Given the description of an element on the screen output the (x, y) to click on. 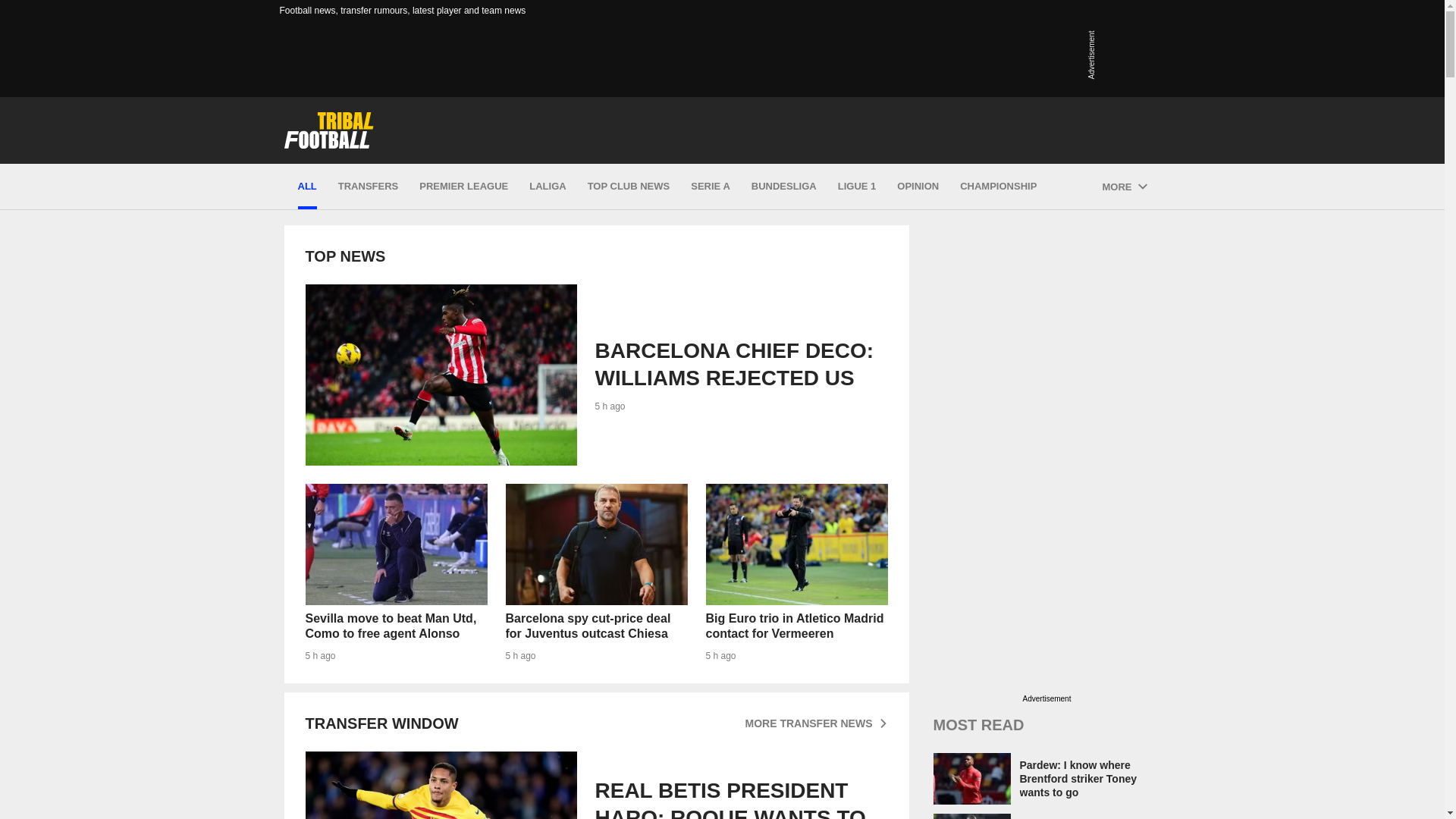
BUNDESLIGA (783, 186)
Big Euro trio in Atletico Madrid contact for Vermeeren (795, 573)
Barcelona spy cut-price deal for Juventus outcast Chiesa (596, 544)
Sevilla move to beat Man Utd, Como to free agent Alonso (395, 544)
Big Euro trio in Atletico Madrid contact for Vermeeren (795, 544)
MORE TRANSFER NEWS (815, 723)
OPINION (917, 186)
